Given the description of an element on the screen output the (x, y) to click on. 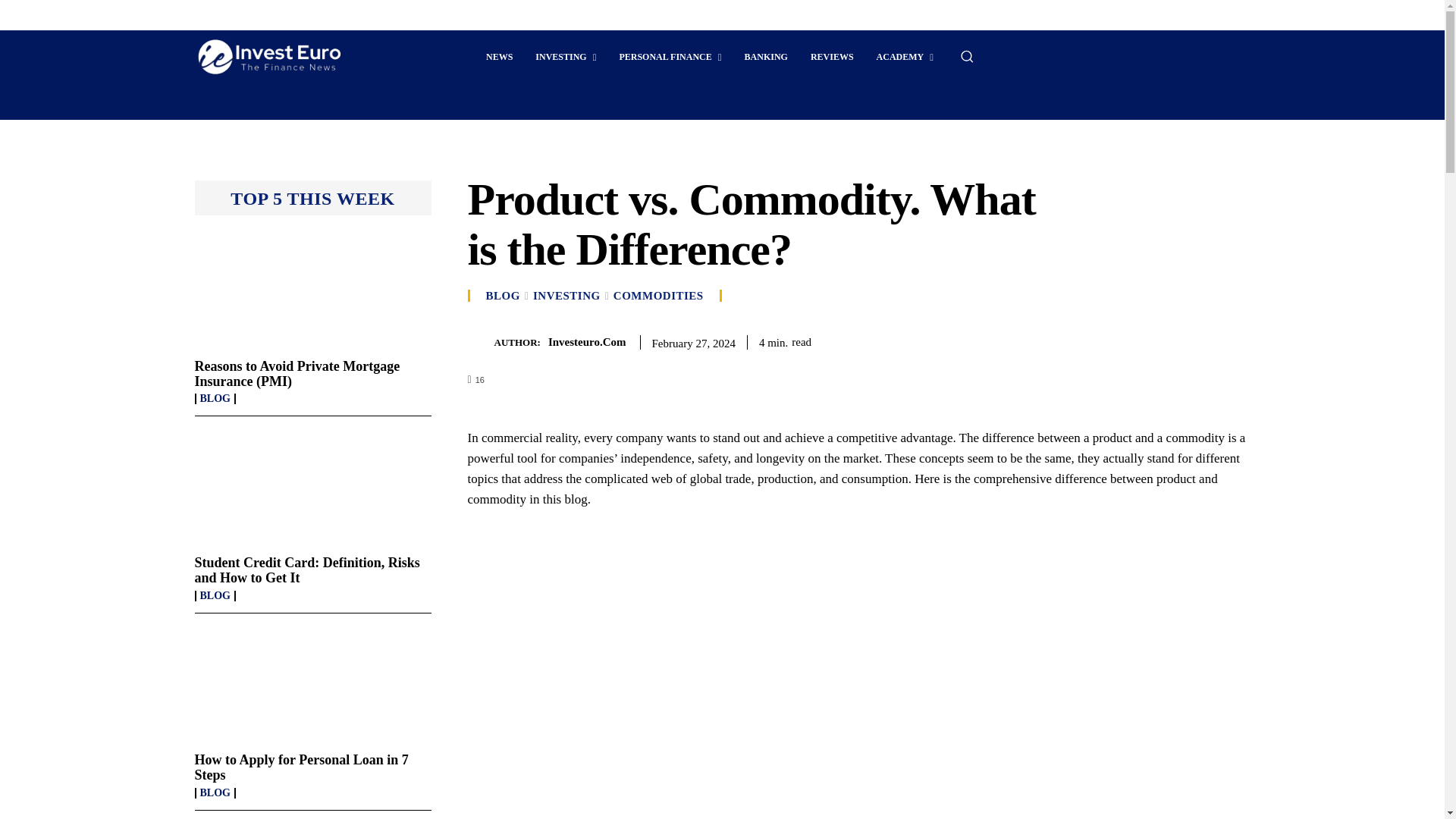
INVESTING (565, 56)
Student Credit Card: Definition, Risks and How to Get It (306, 570)
Student Credit Card: Definition, Risks and How to Get It (311, 486)
ACADEMY (904, 56)
BANKING (766, 56)
PERSONAL FINANCE (669, 56)
How to Apply for Personal Loan in 7 Steps (300, 767)
How to Apply for Personal Loan in 7 Steps (311, 683)
REVIEWS (831, 56)
NEWS (499, 56)
